Given the description of an element on the screen output the (x, y) to click on. 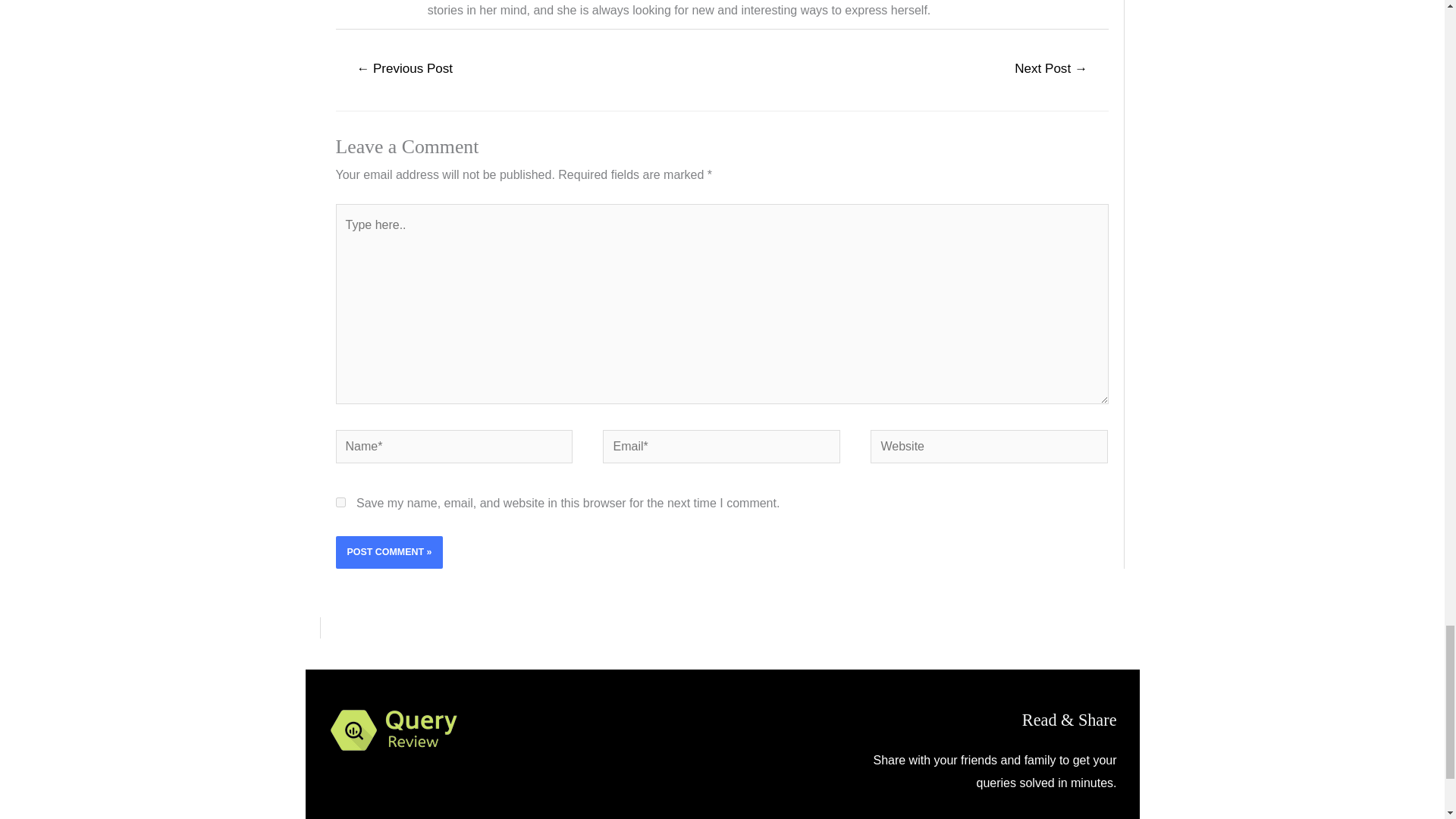
yes (339, 501)
